Given the description of an element on the screen output the (x, y) to click on. 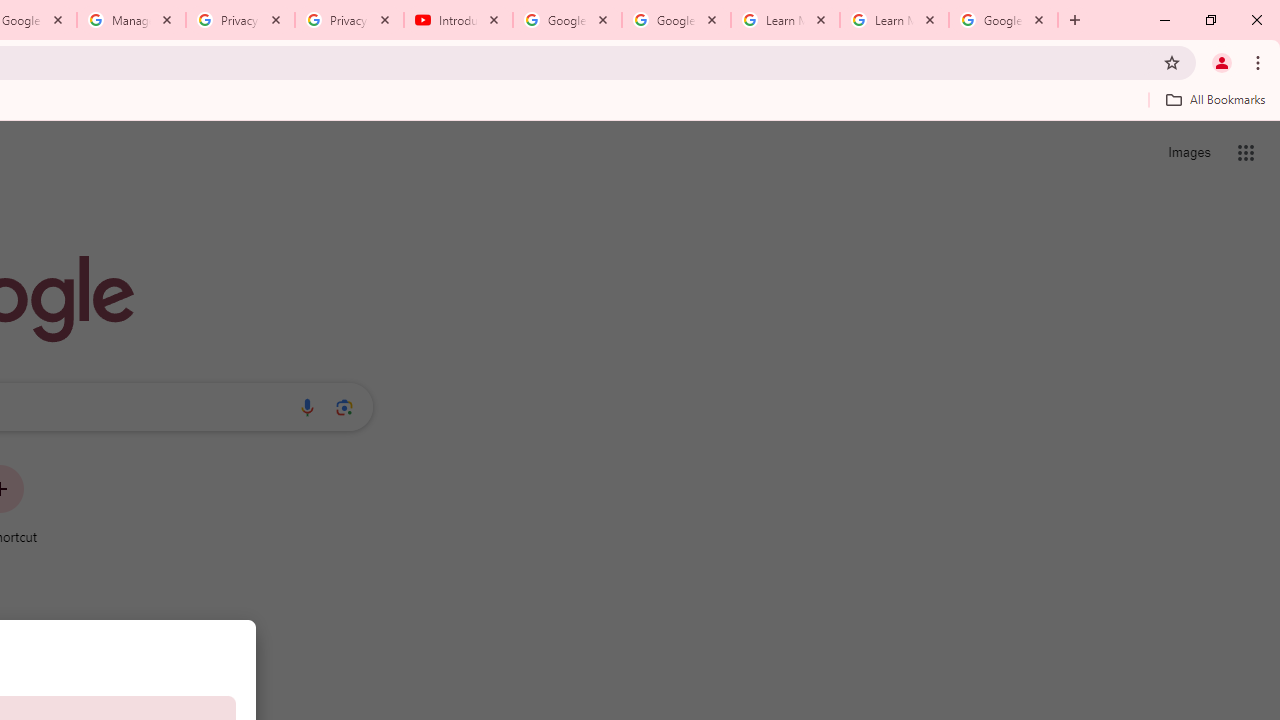
Google Account Help (567, 20)
Google Account Help (676, 20)
